Given the description of an element on the screen output the (x, y) to click on. 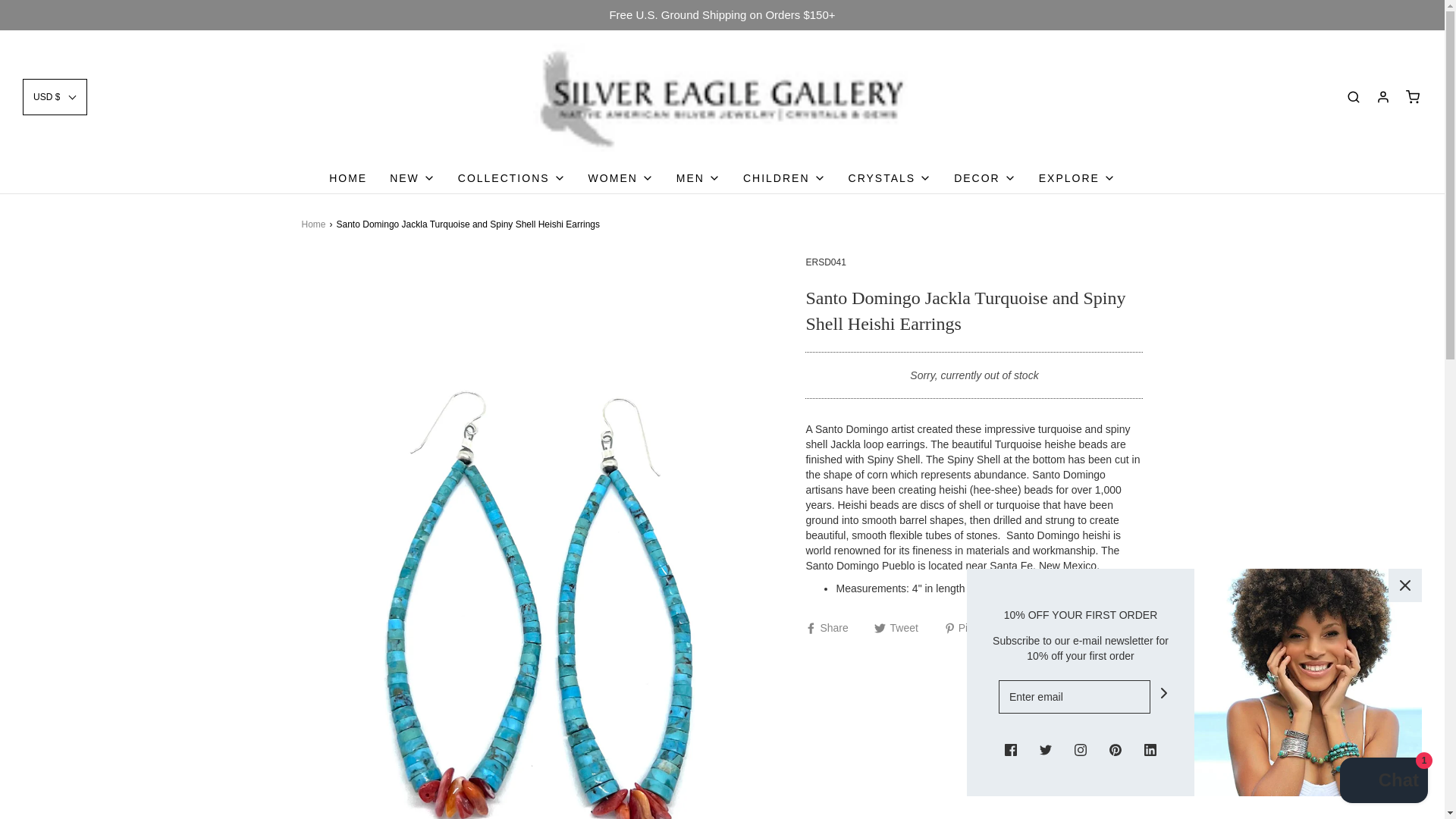
WOMEN (620, 177)
Shopify online store chat (1383, 781)
Log in (1382, 96)
Back to the frontpage (315, 224)
Cart (1412, 96)
Search (1352, 96)
COLLECTIONS (512, 177)
Search (1423, 5)
HOME (347, 177)
NEW (412, 177)
